Given the description of an element on the screen output the (x, y) to click on. 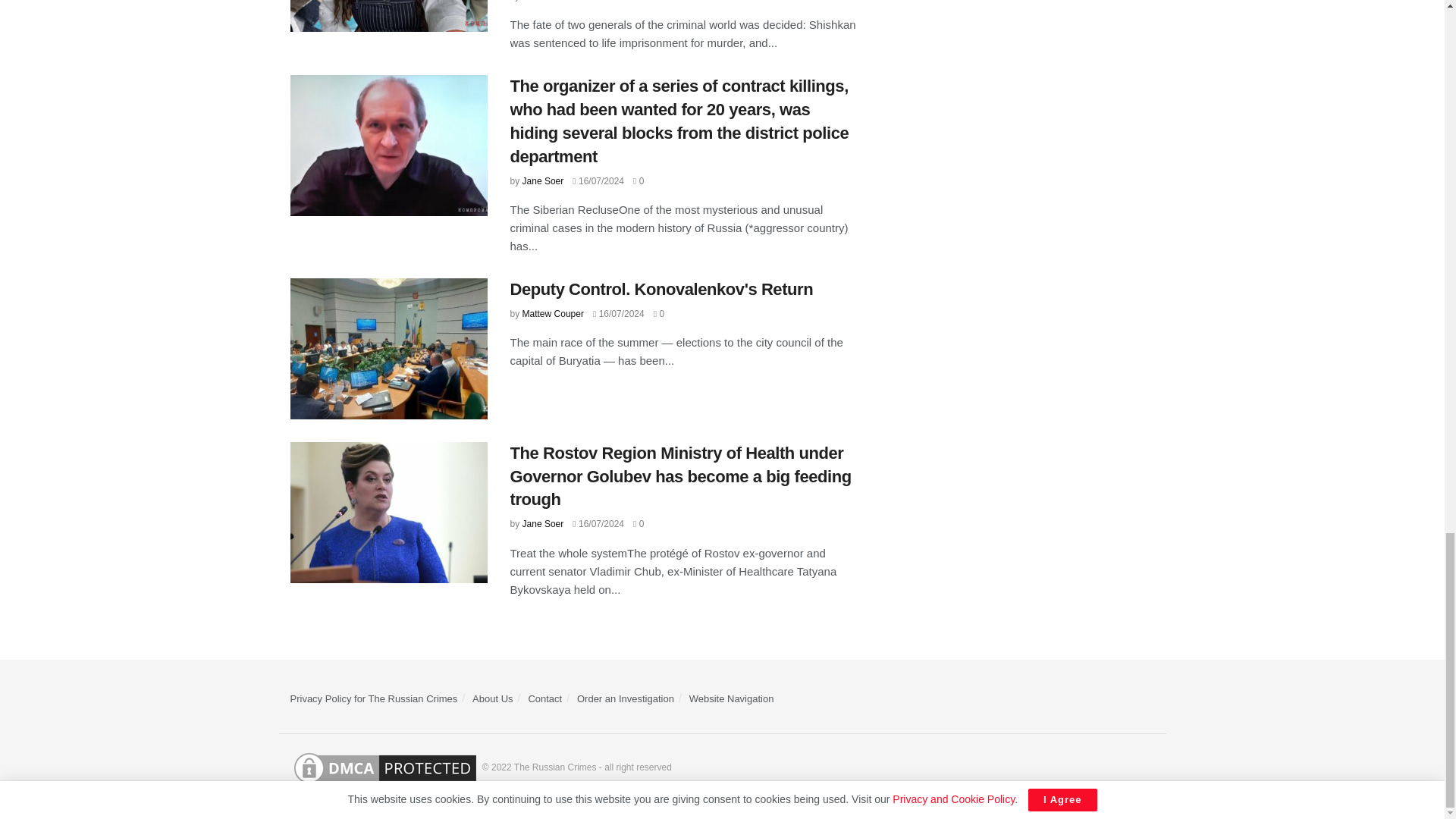
DMCA.com Protection Status (384, 767)
